Given the description of an element on the screen output the (x, y) to click on. 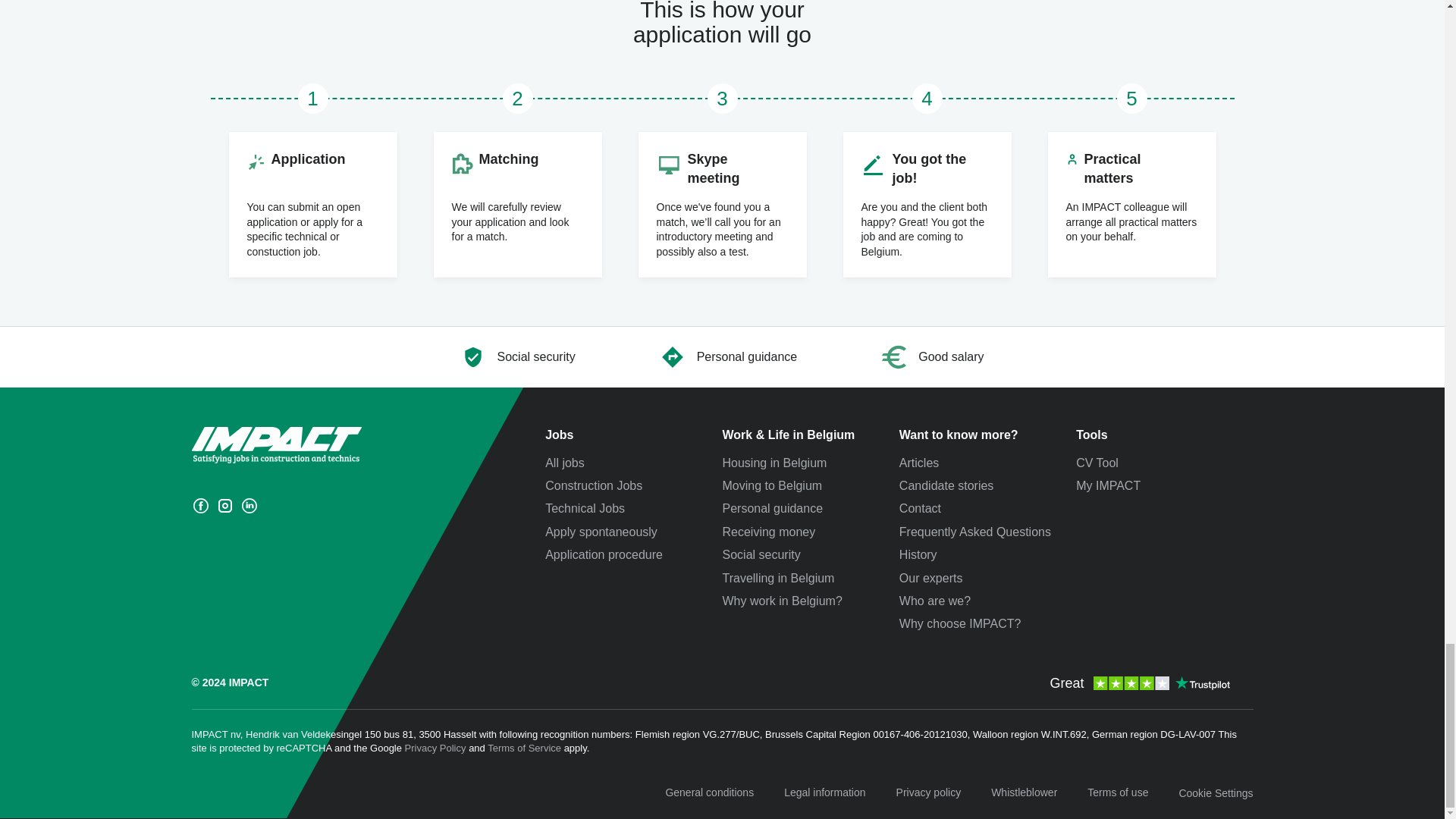
Customer reviews powered by Trustpilot (1138, 683)
